Given the description of an element on the screen output the (x, y) to click on. 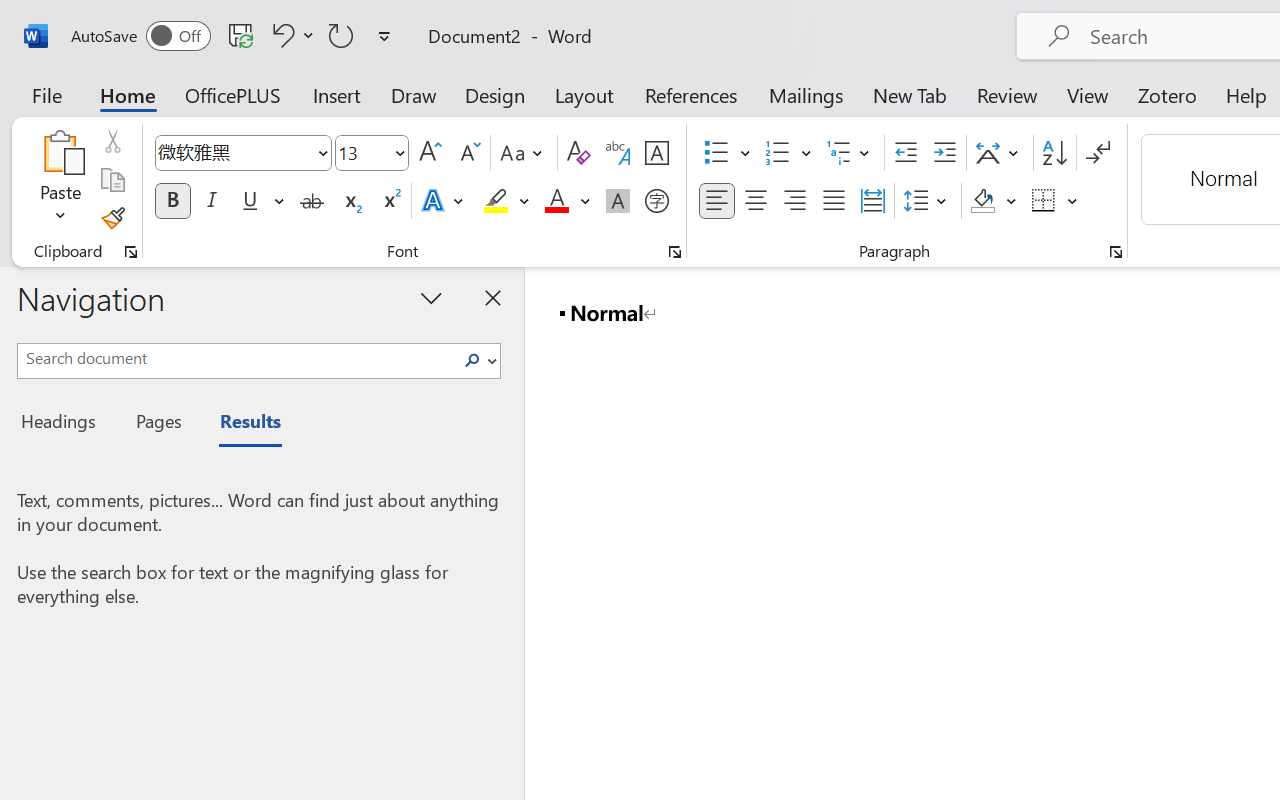
Numbering (788, 153)
Underline (250, 201)
Shrink Font (468, 153)
Customize Quick Access Toolbar (384, 35)
Multilevel List (850, 153)
OfficePLUS (233, 94)
Grow Font (430, 153)
References (690, 94)
Numbering (778, 153)
